Given the description of an element on the screen output the (x, y) to click on. 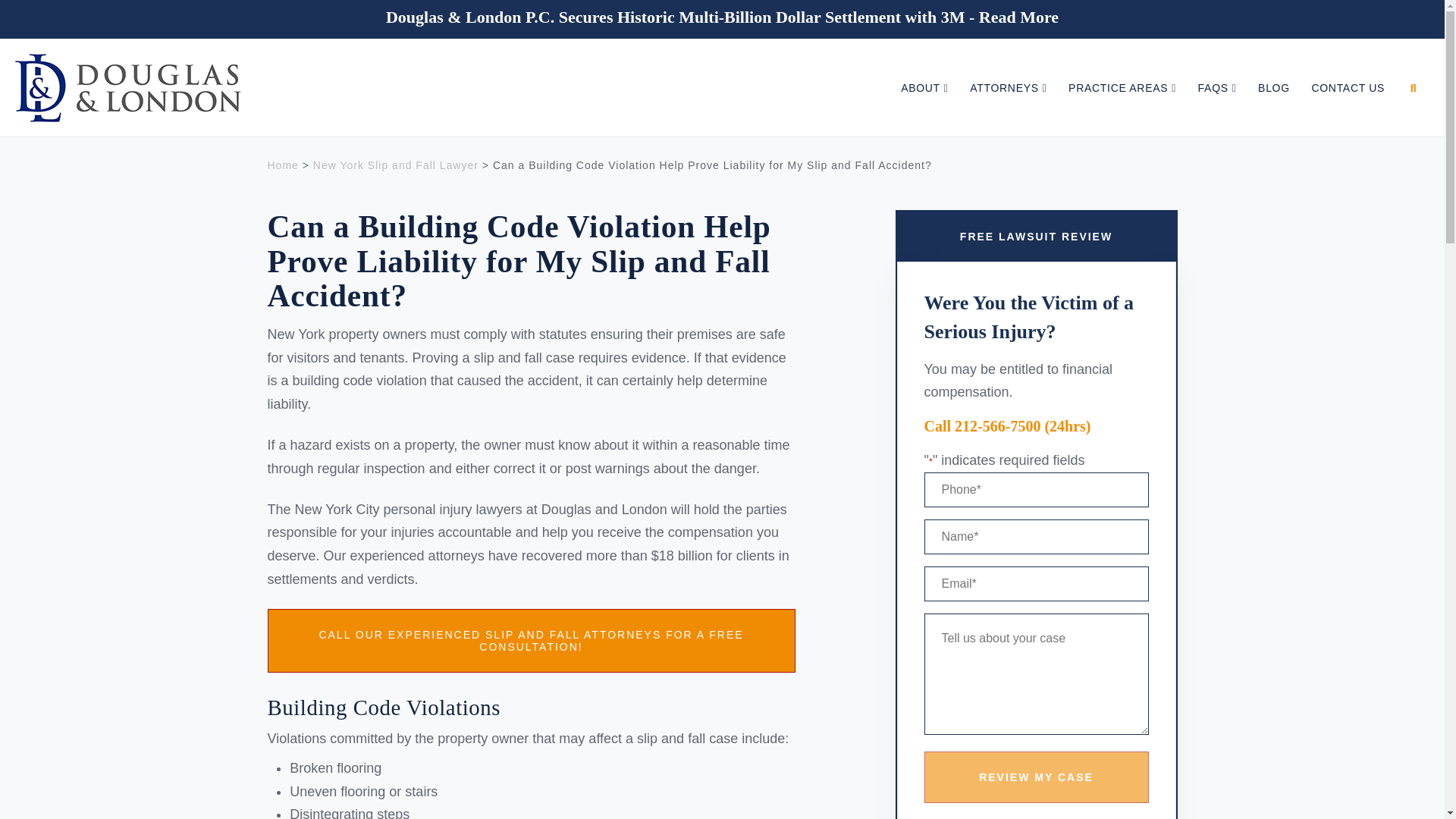
PRACTICE AREAS (1121, 71)
Review My Case (1035, 777)
Read More (1018, 16)
ABOUT (923, 71)
ATTORNEYS (1007, 71)
